Given the description of an element on the screen output the (x, y) to click on. 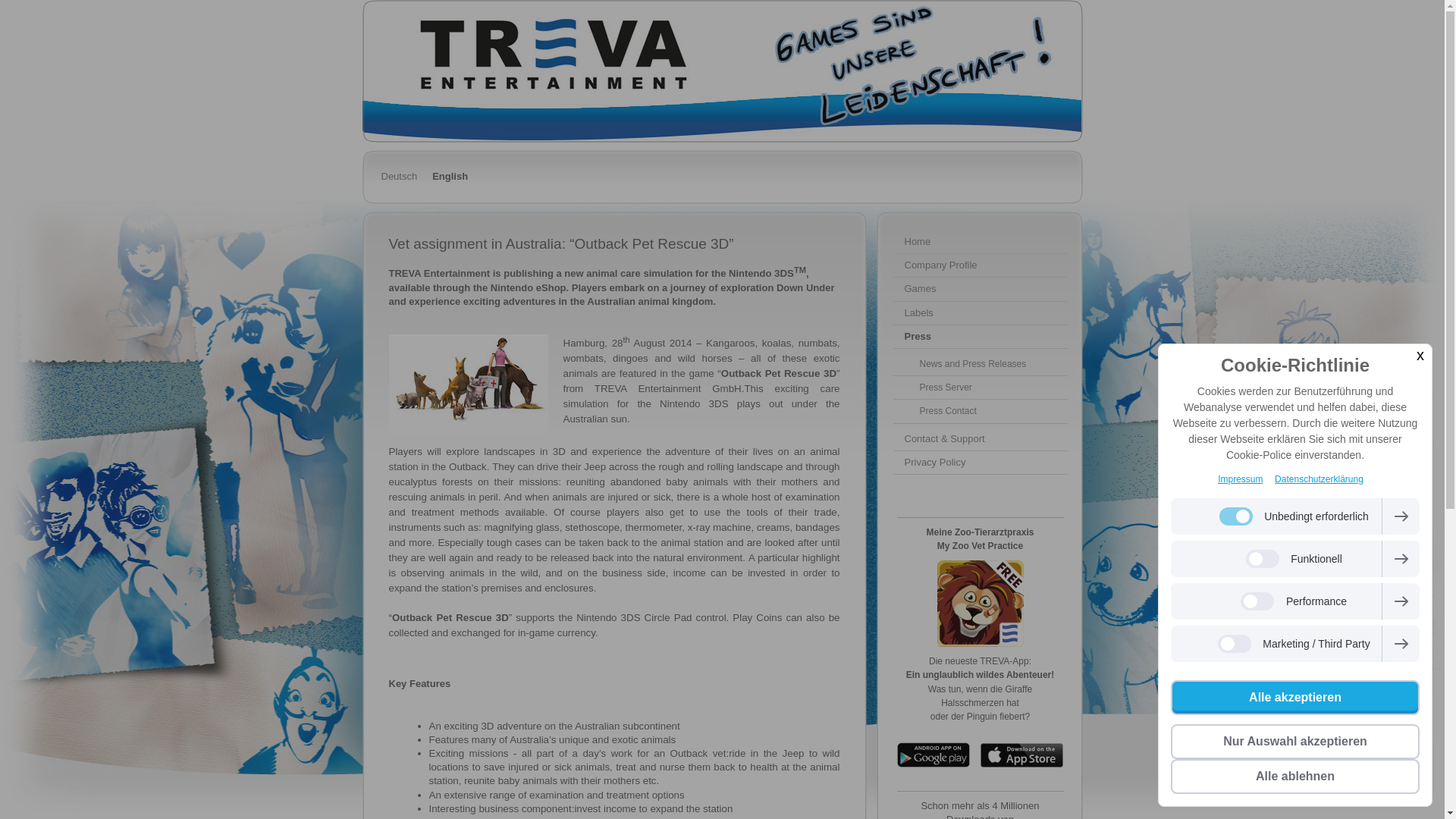
English (450, 176)
News and Press Releases (980, 363)
Privacy Policy (980, 463)
Impressum (1239, 479)
Press (980, 336)
Press Contact (980, 411)
Company Profile (980, 265)
Press Server (980, 387)
Labels (980, 313)
Games (980, 289)
